Given the description of an element on the screen output the (x, y) to click on. 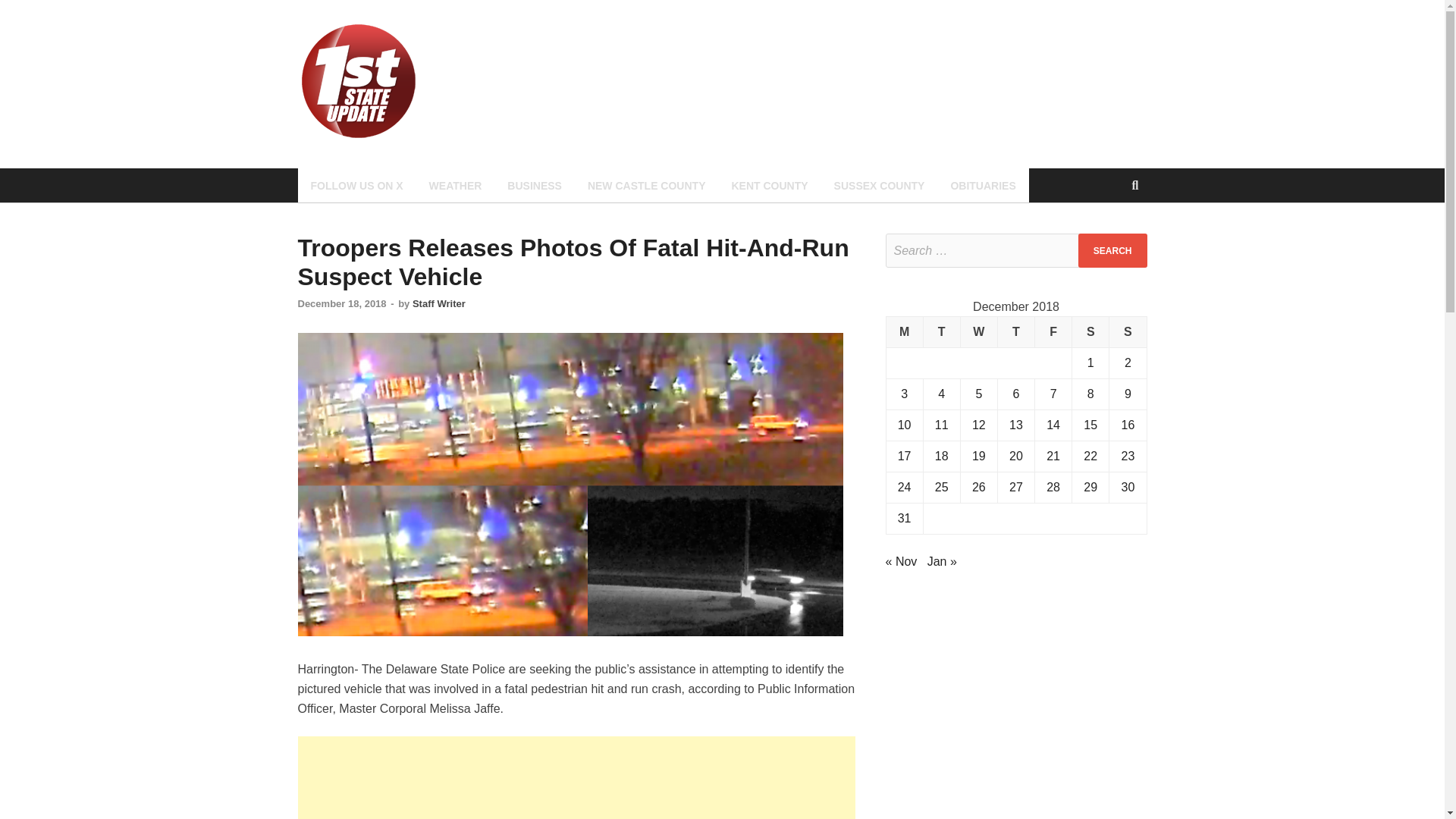
FOLLOW US ON X (355, 185)
14 (1052, 424)
Saturday (1090, 332)
KENT COUNTY (769, 185)
Monday (904, 332)
BUSINESS (535, 185)
Staff Writer (438, 303)
Thursday (1015, 332)
10 (904, 424)
11 (941, 424)
12 (978, 424)
Search (1112, 250)
Tuesday (941, 332)
Advertisement (575, 777)
WEATHER (455, 185)
